Given the description of an element on the screen output the (x, y) to click on. 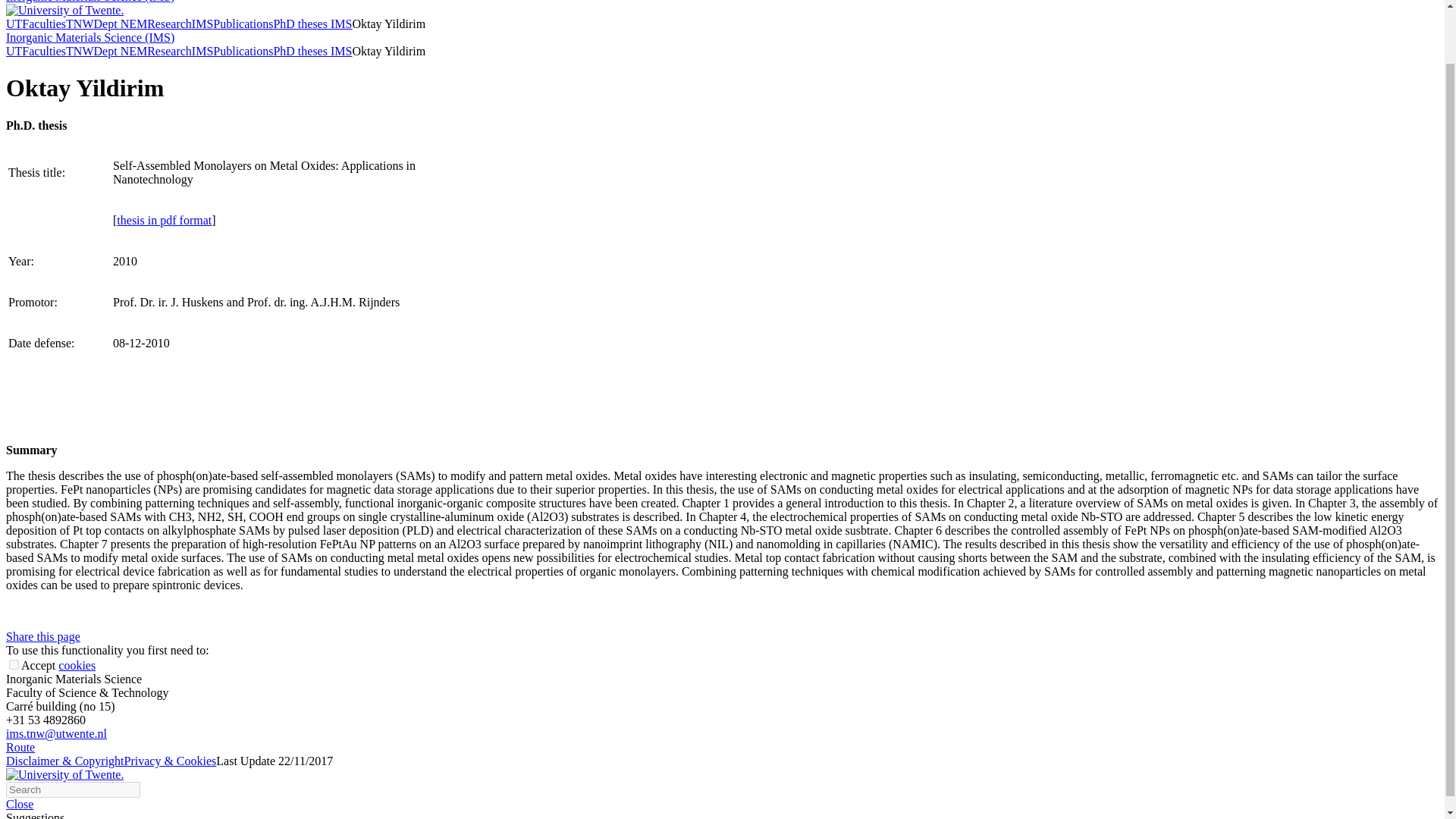
Publications (242, 51)
TNW (79, 51)
Dept NEM (121, 51)
cookies (77, 665)
IMS (202, 23)
Research (169, 23)
on (13, 664)
UT (13, 23)
PhD theses IMS (312, 51)
thesis in pdf format (163, 219)
